Given the description of an element on the screen output the (x, y) to click on. 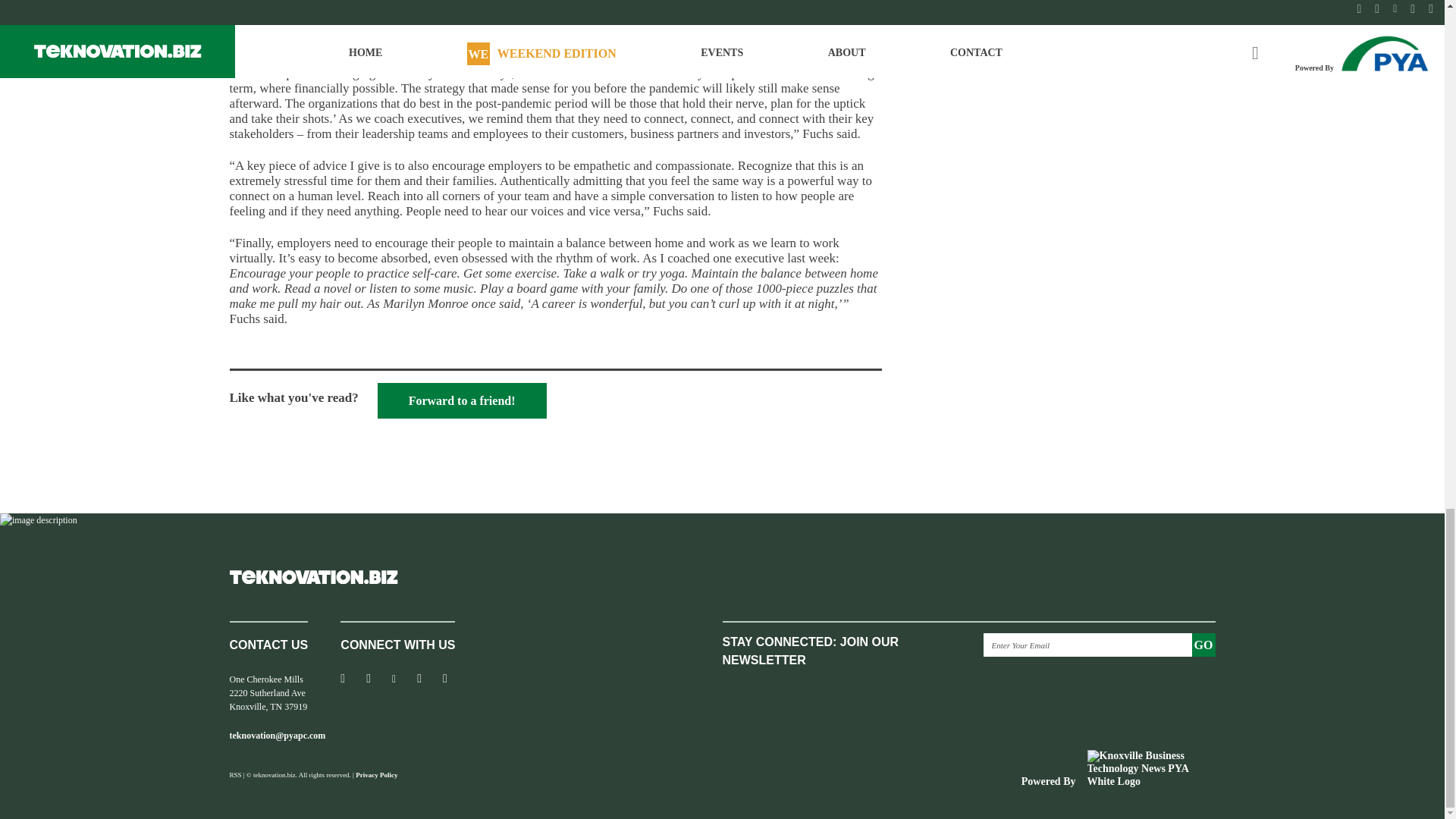
Go (1203, 644)
Forward to a friend! (462, 400)
Forward to a Friend by Email (462, 400)
